Given the description of an element on the screen output the (x, y) to click on. 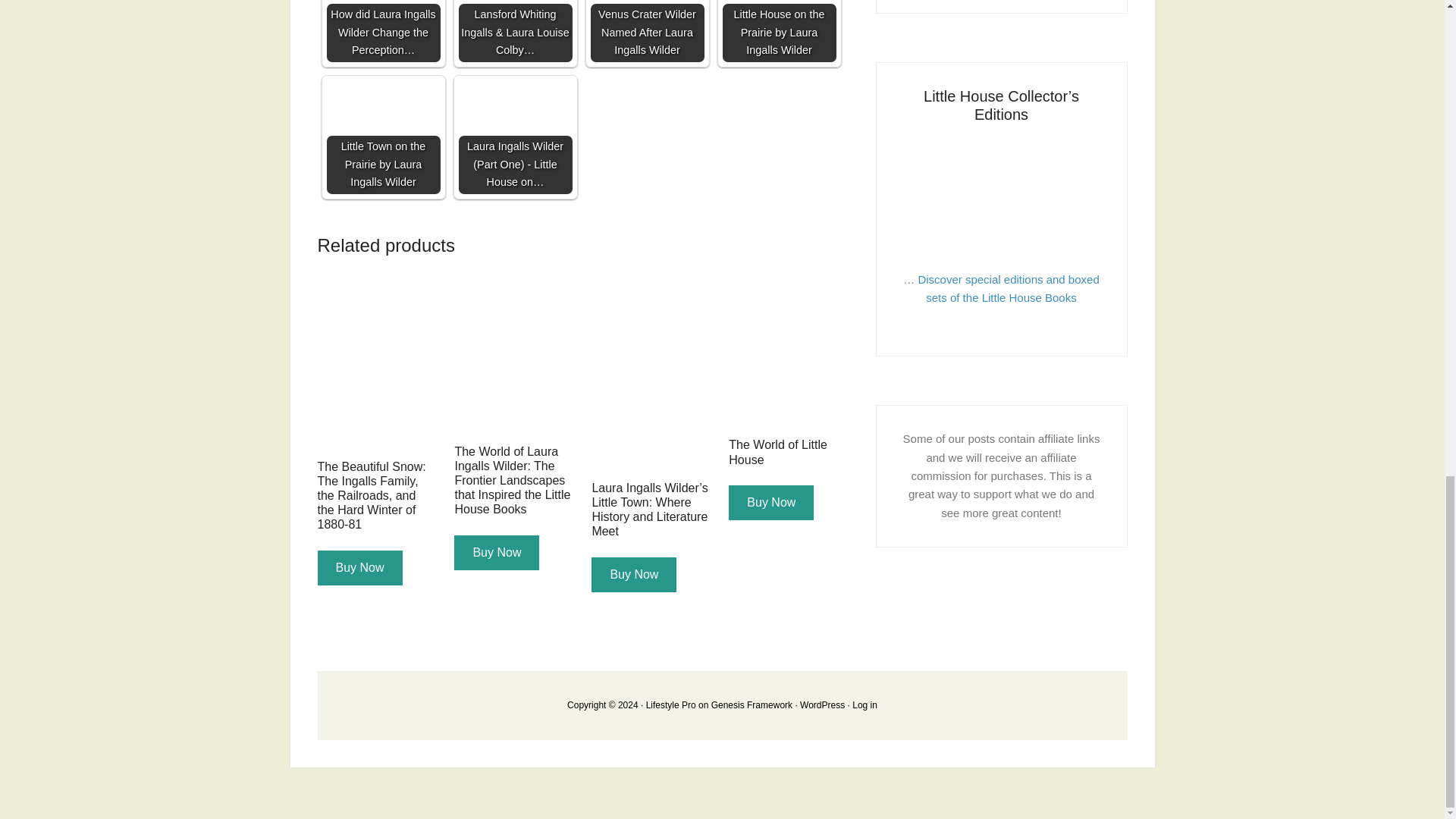
Little Town on the Prairie by Laura Ingalls Wilder (382, 137)
Venus Crater Wilder Named After Laura Ingalls Wilder (646, 31)
Little House on the Prairie by Laura Ingalls Wilder (778, 31)
